Given the description of an element on the screen output the (x, y) to click on. 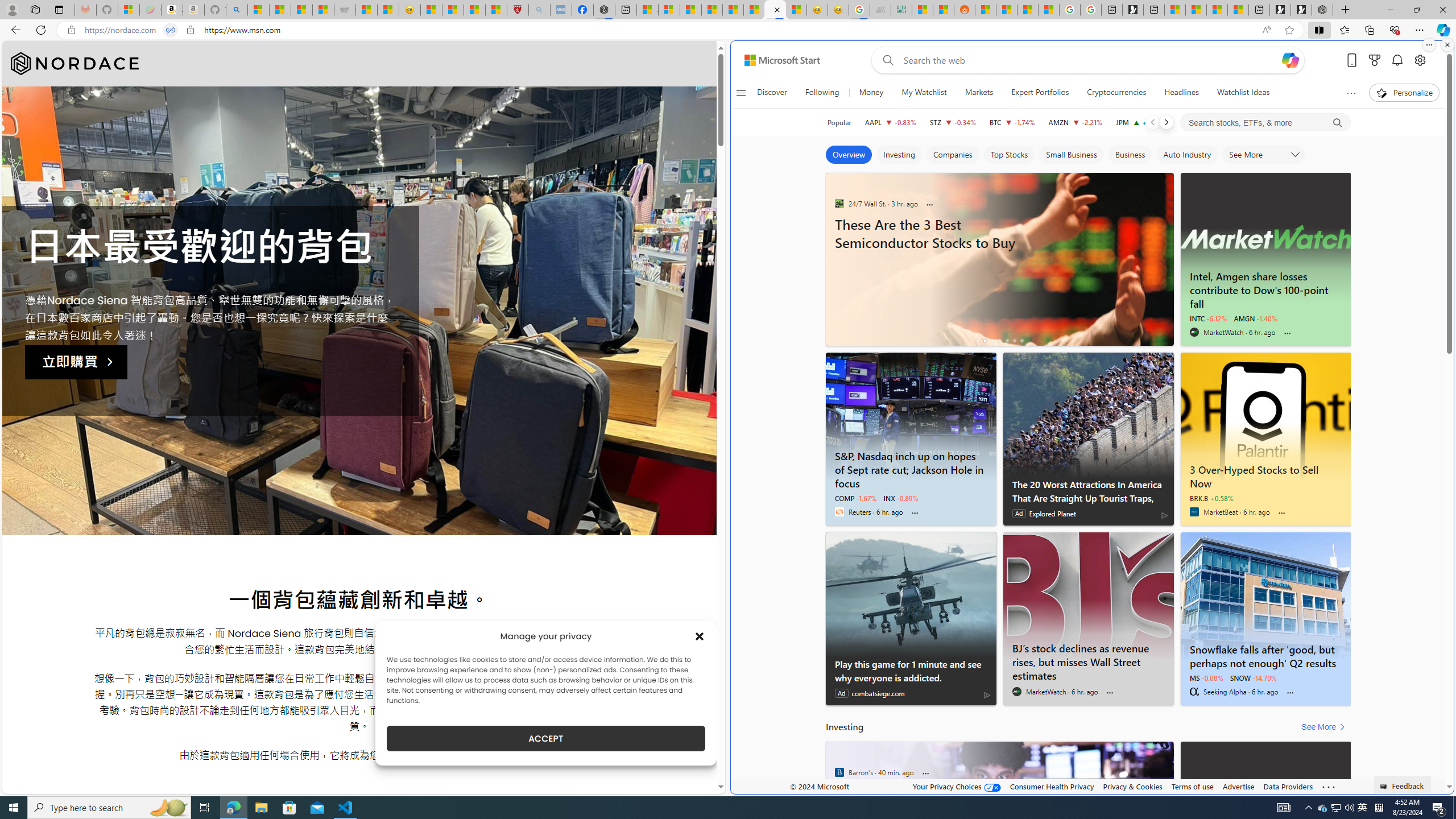
Science - MSN (474, 9)
Headlines (1181, 92)
Personalize (1403, 92)
Watchlist Ideas (1243, 92)
Class: feedback_link_icon-DS-EntryPoint1-1 (1384, 786)
